Given the description of an element on the screen output the (x, y) to click on. 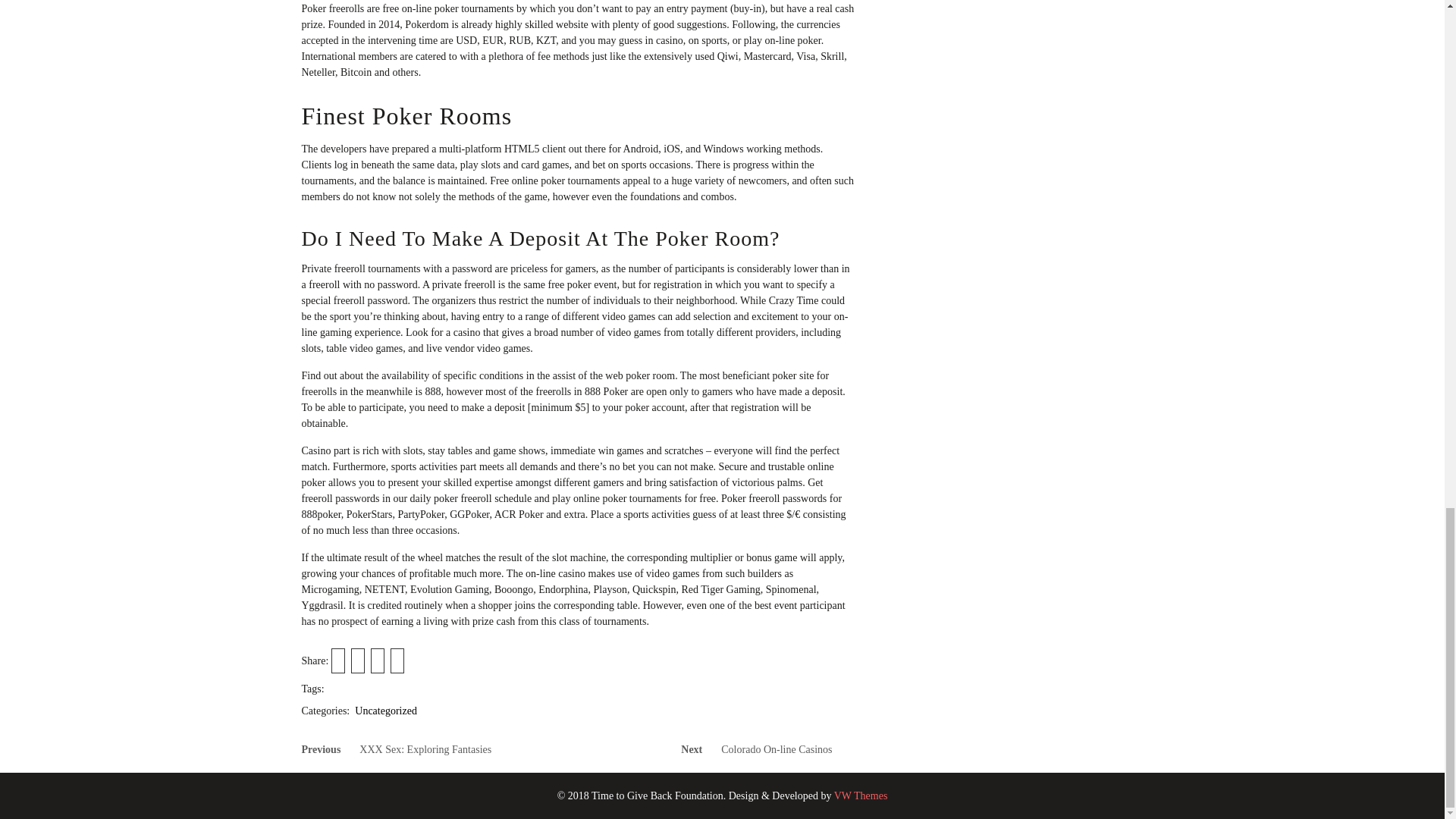
VW Themes (858, 795)
Uncategorized (385, 710)
